Given the description of an element on the screen output the (x, y) to click on. 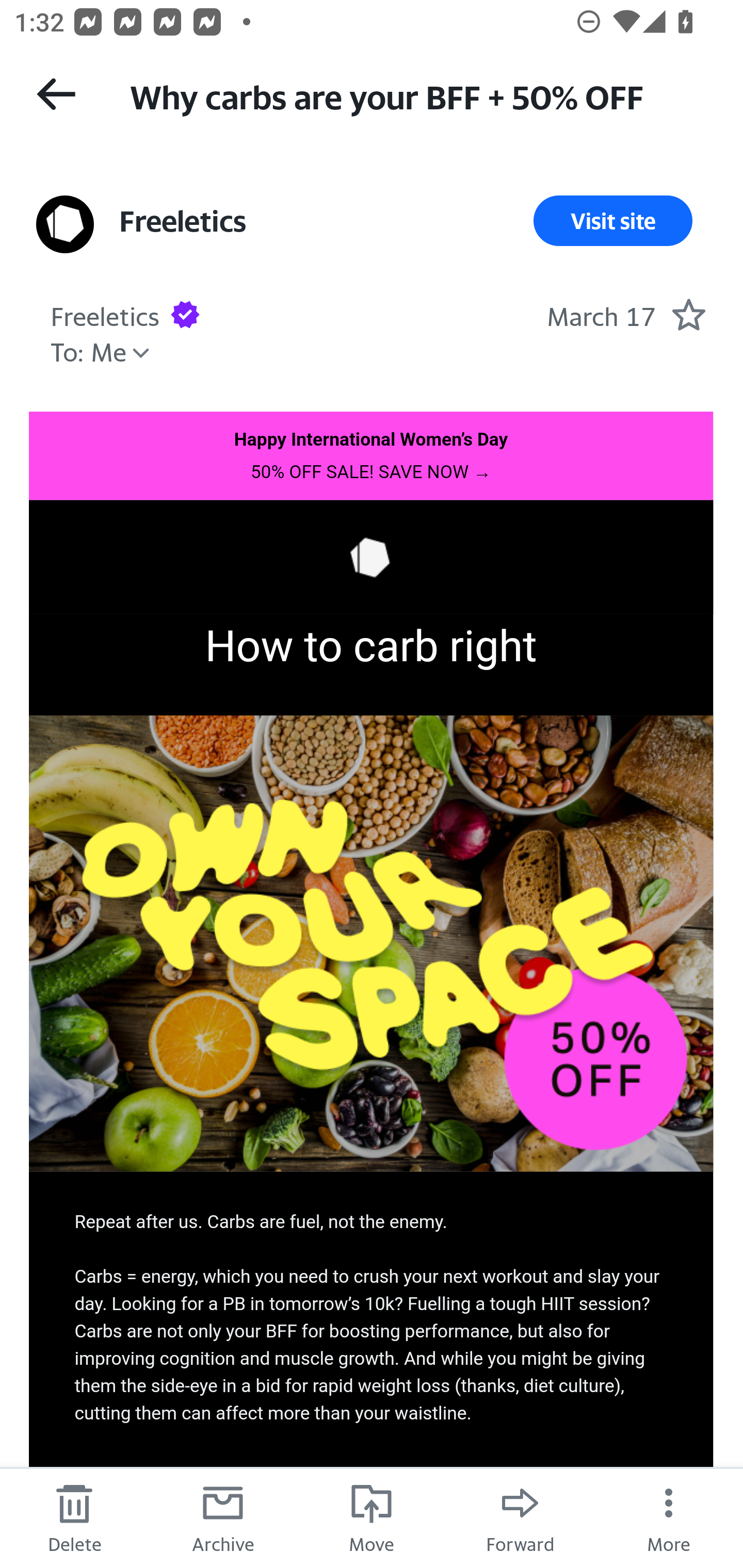
Back (55, 93)
Why carbs are your BFF + 50% OFF (418, 94)
View all messages from sender (64, 225)
Visit site Visit Site Link (612, 221)
Freeletics Sender Freeletics (182, 220)
Freeletics Sender Freeletics (104, 314)
Mark as starred. (688, 314)
Happy International Women’s Day (371, 438)
50% OFF SALE! SAVE NOW → (370, 471)
Delete (74, 1517)
Archive (222, 1517)
Move (371, 1517)
Forward (519, 1517)
More (668, 1517)
